Given the description of an element on the screen output the (x, y) to click on. 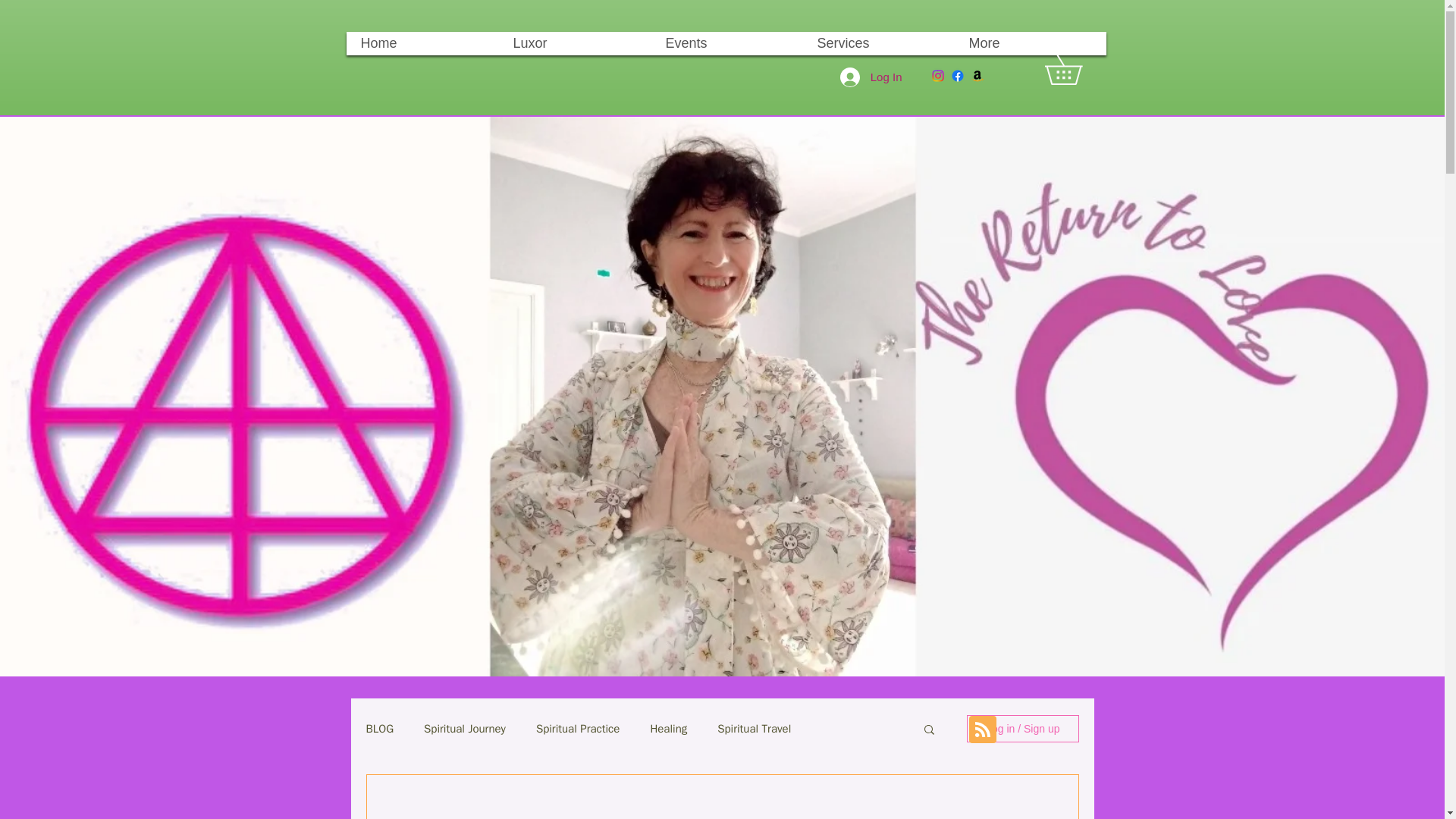
Spiritual Journey (464, 728)
BLOG (379, 728)
Spiritual Practice (577, 728)
Luxor (574, 43)
Services (877, 43)
Events (726, 43)
Log In (870, 76)
Spiritual Travel (753, 728)
Healing (668, 728)
Home (421, 43)
